Given the description of an element on the screen output the (x, y) to click on. 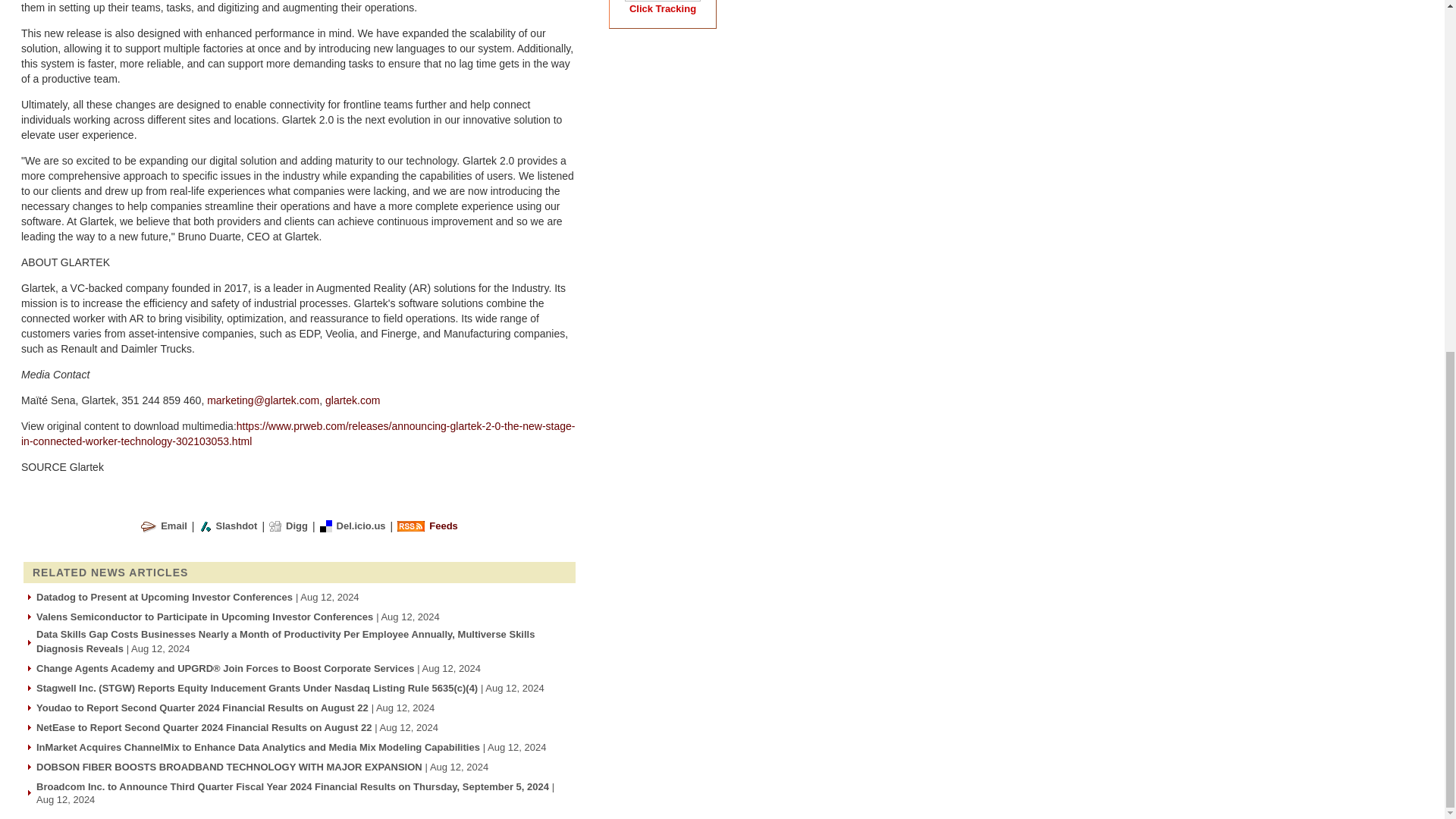
Email This News Item (173, 525)
Click Tracking Software (662, 2)
Click Tracking Software (661, 8)
